Given the description of an element on the screen output the (x, y) to click on. 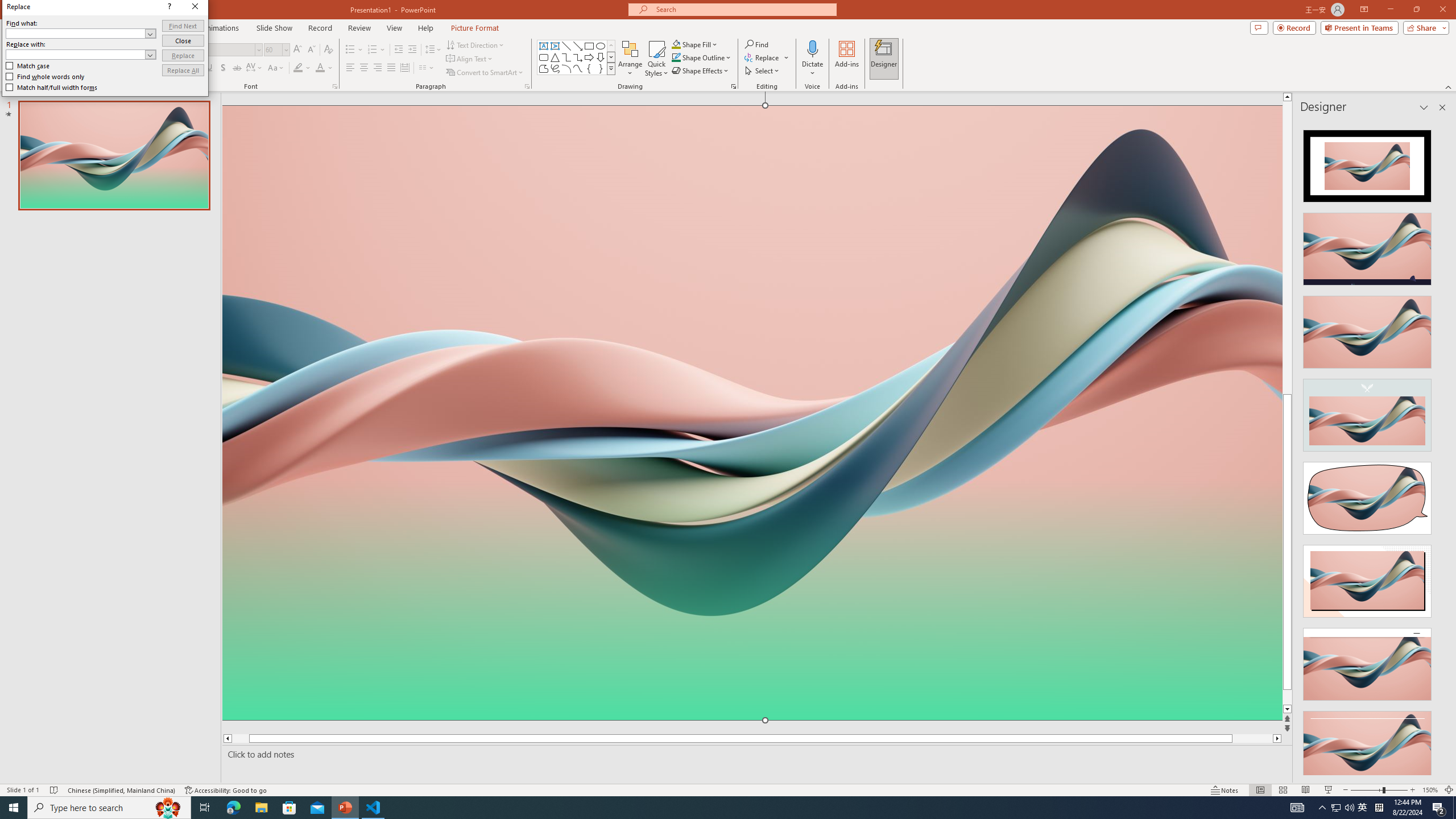
Vertical Text Box (554, 45)
Quick Styles (656, 58)
AutomationID: ShapesInsertGallery (576, 57)
Character Spacing (254, 67)
Text Direction (476, 44)
Italic (195, 67)
